Given the description of an element on the screen output the (x, y) to click on. 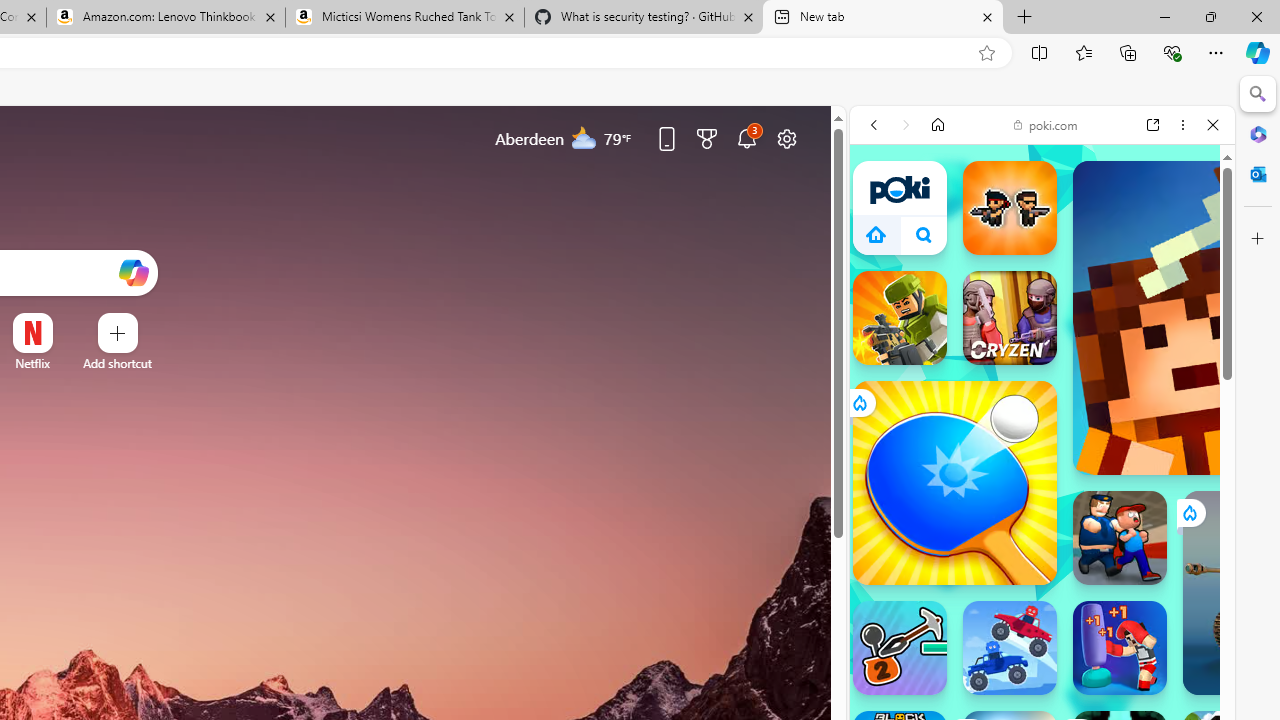
Kour.io Kour.io (899, 317)
Add a site (117, 363)
Class: rCs5cyEiqiTpYvt_VBCR (1189, 512)
Zombie Rush Zombie Rush (1009, 207)
